Given the description of an element on the screen output the (x, y) to click on. 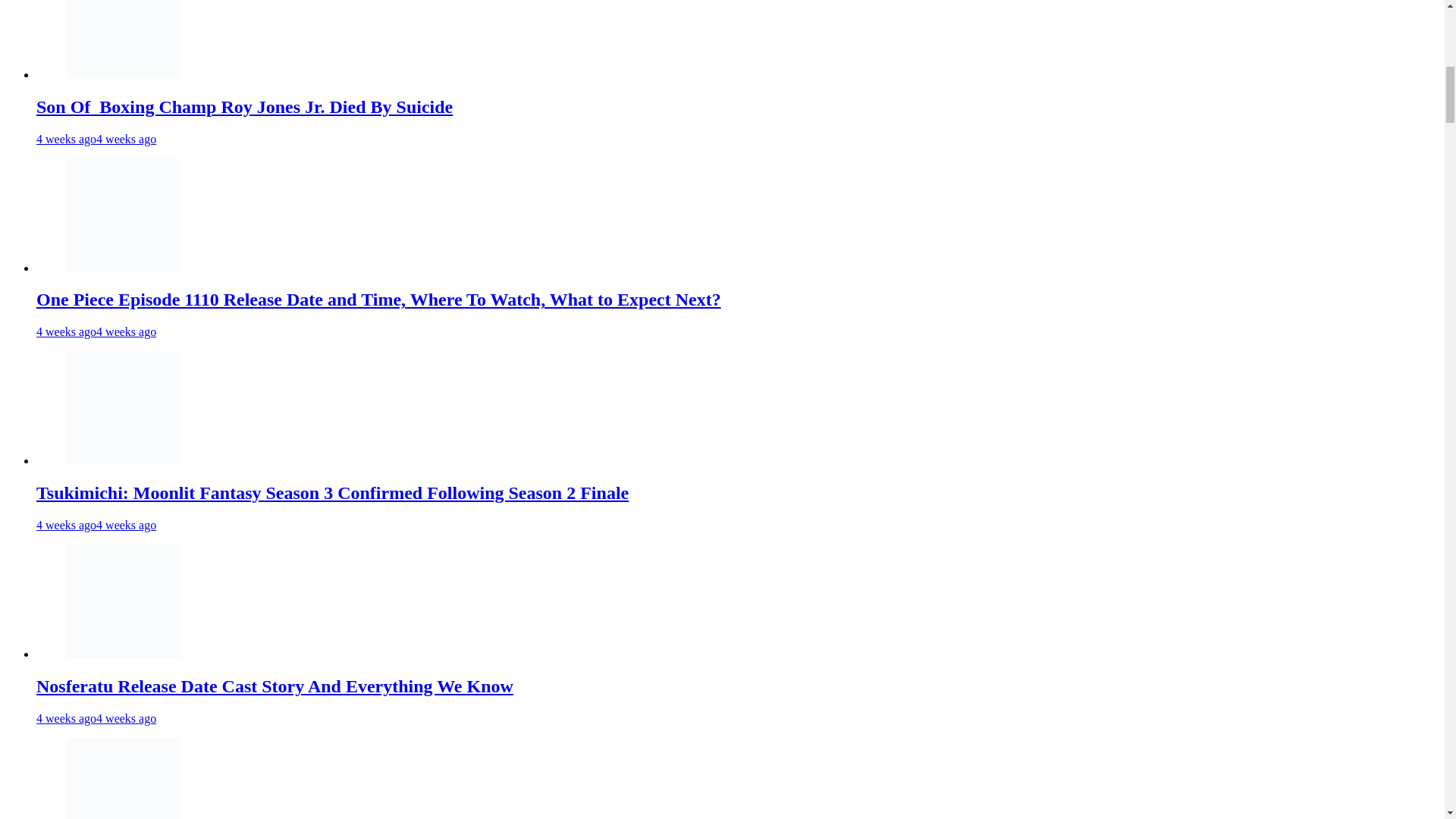
4 weeks ago4 weeks ago (95, 524)
4 weeks ago4 weeks ago (95, 331)
Son Of  Boxing Champ Roy Jones Jr. Died By Suicide (244, 107)
Nosferatu Release Date Cast Story And Everything We Know (274, 686)
4 weeks ago4 weeks ago (95, 137)
